Given the description of an element on the screen output the (x, y) to click on. 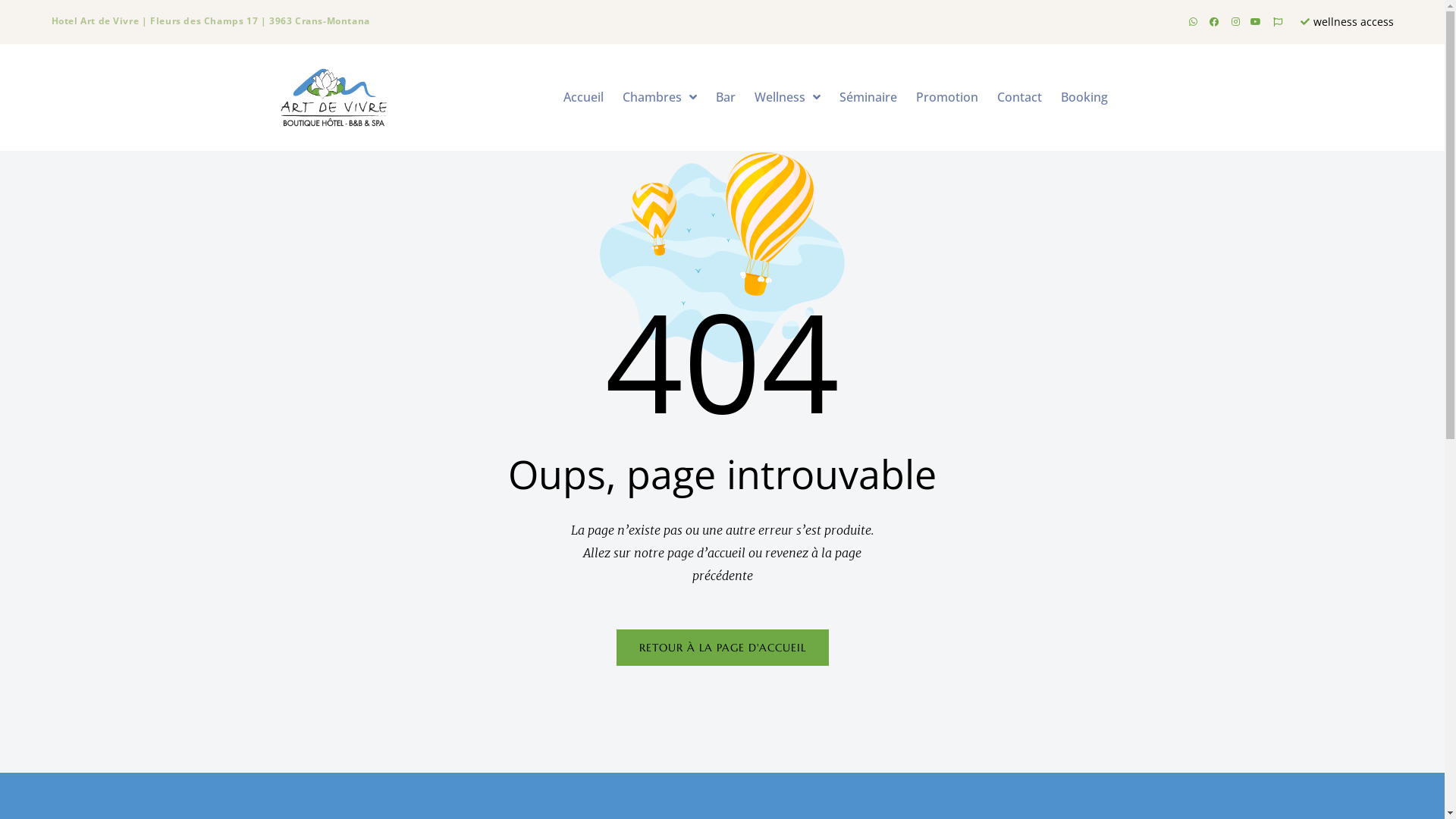
wellness access Element type: text (1345, 21)
Bar Element type: text (725, 96)
Wellness Element type: text (371, 24)
Wellness Element type: text (786, 96)
Bar Element type: text (310, 24)
Accueil Element type: text (263, 24)
Booking Element type: text (1083, 96)
Chambres Element type: text (658, 96)
Promotion Element type: text (532, 24)
Accueil Element type: text (582, 96)
Contact Element type: text (1018, 96)
Contact Element type: text (605, 24)
Promotion Element type: text (947, 96)
